Given the description of an element on the screen output the (x, y) to click on. 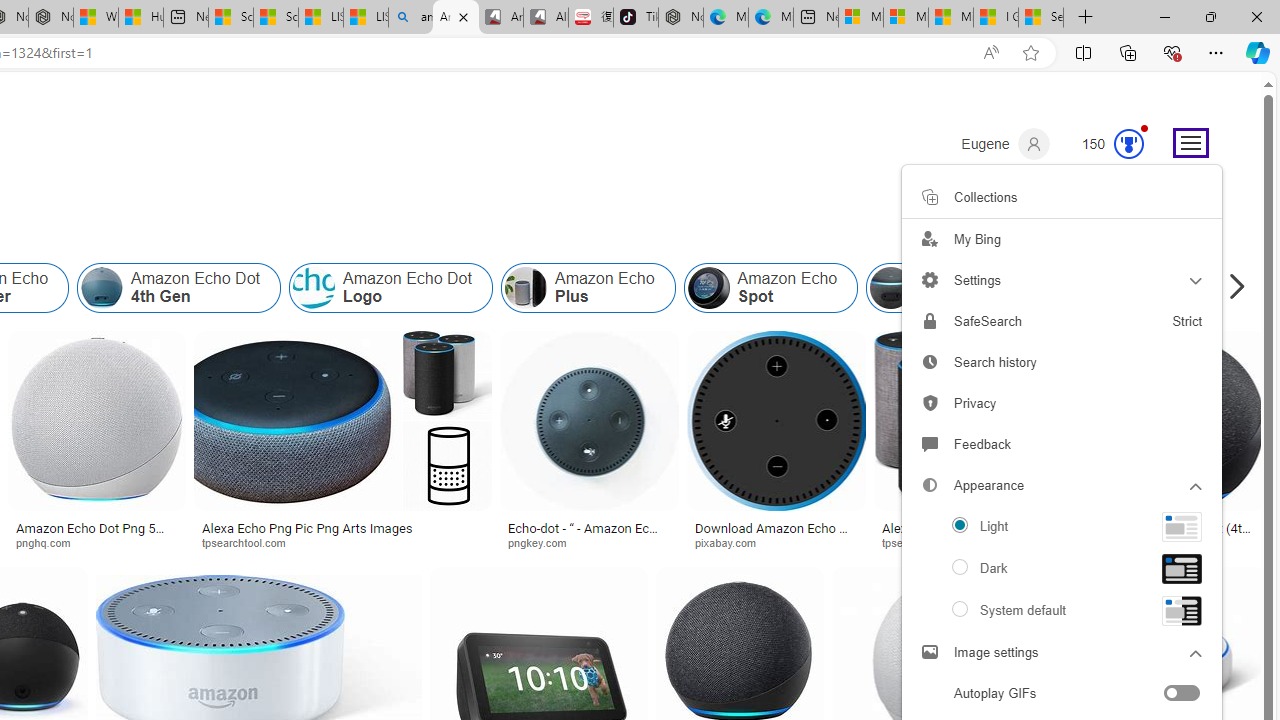
Class: rdio-icon (959, 609)
Settings and quick links (1190, 142)
Search history (1062, 362)
Dark (1062, 568)
Class: hbic_saves (929, 196)
Eugene (1005, 143)
Class: item col (1161, 287)
Autoplay GIFs (1062, 693)
